Given the description of an element on the screen output the (x, y) to click on. 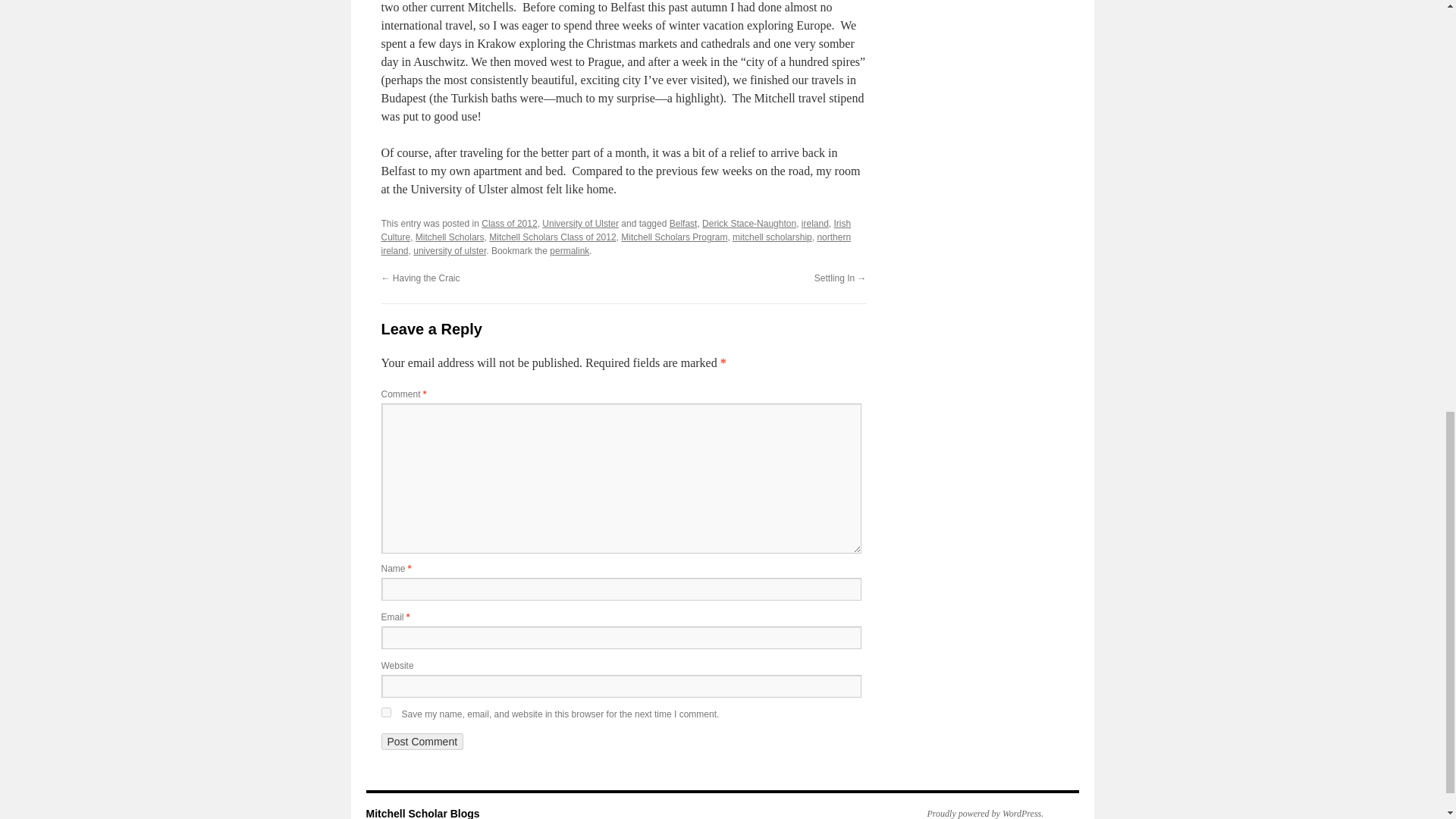
Post Comment (421, 741)
permalink (569, 250)
Mitchell Scholars (449, 236)
Class of 2012 (509, 223)
university of ulster (449, 250)
mitchell scholarship (772, 236)
Mitchell Scholars Program (673, 236)
Belfast (683, 223)
University of Ulster (579, 223)
yes (385, 712)
Post Comment (421, 741)
Irish Culture (615, 230)
northern ireland (615, 243)
Permalink to Belfast: Part 2 (569, 250)
ireland (815, 223)
